Given the description of an element on the screen output the (x, y) to click on. 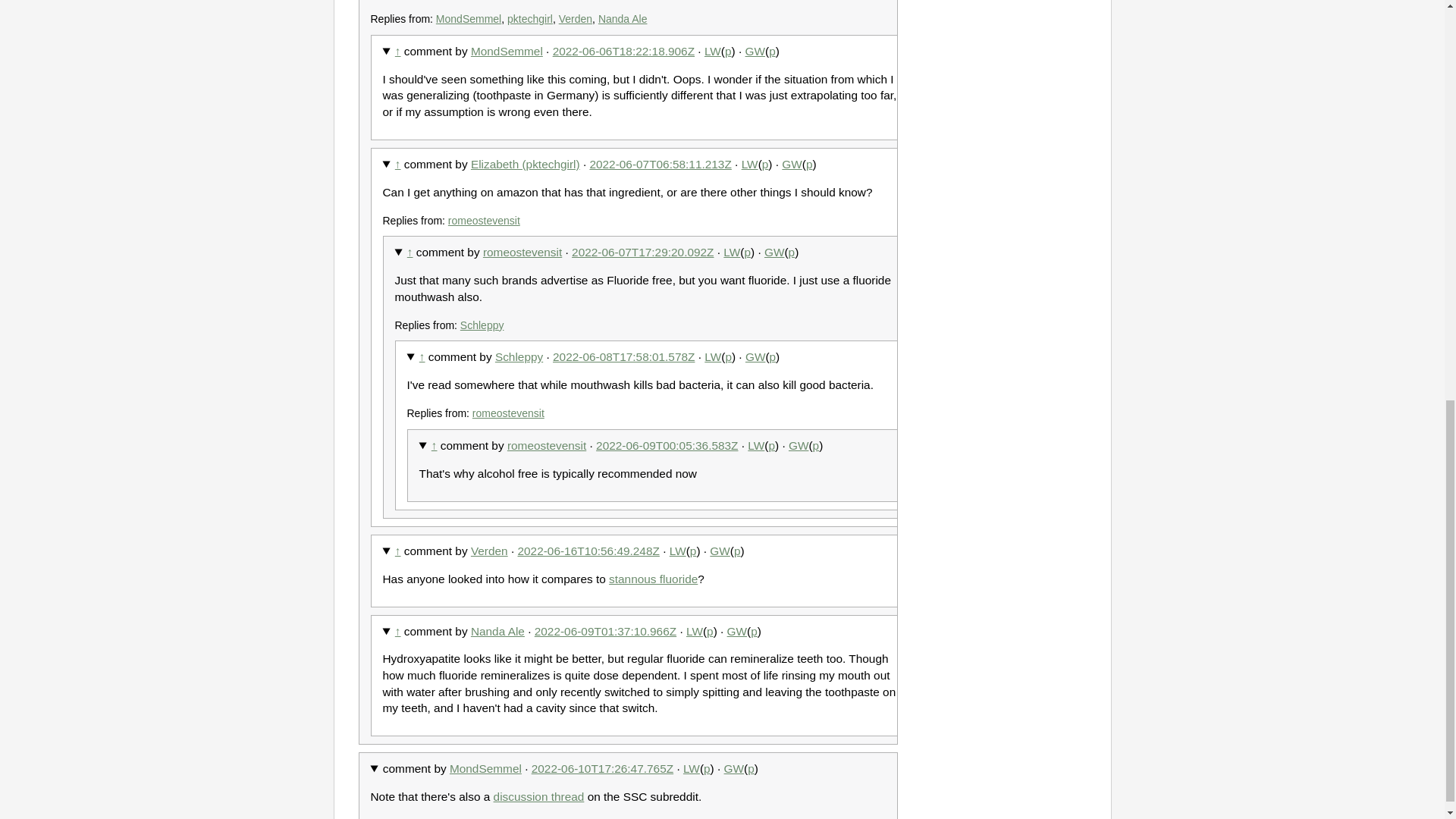
Official LessWrong 2.0 link (731, 251)
Official LessWrong 2.0 permalink (747, 251)
Official LessWrong 2.0 link (712, 51)
LW (731, 251)
2022-06-06T18:22:18.906Z (623, 51)
Verden (575, 19)
GW (791, 164)
GreaterWrong link (791, 164)
romeostevensit (522, 251)
Official LessWrong 2.0 link (749, 164)
p (772, 51)
p (764, 164)
MondSemmel (467, 19)
Go to parent comment (397, 164)
GreaterWrong link (755, 51)
